Given the description of an element on the screen output the (x, y) to click on. 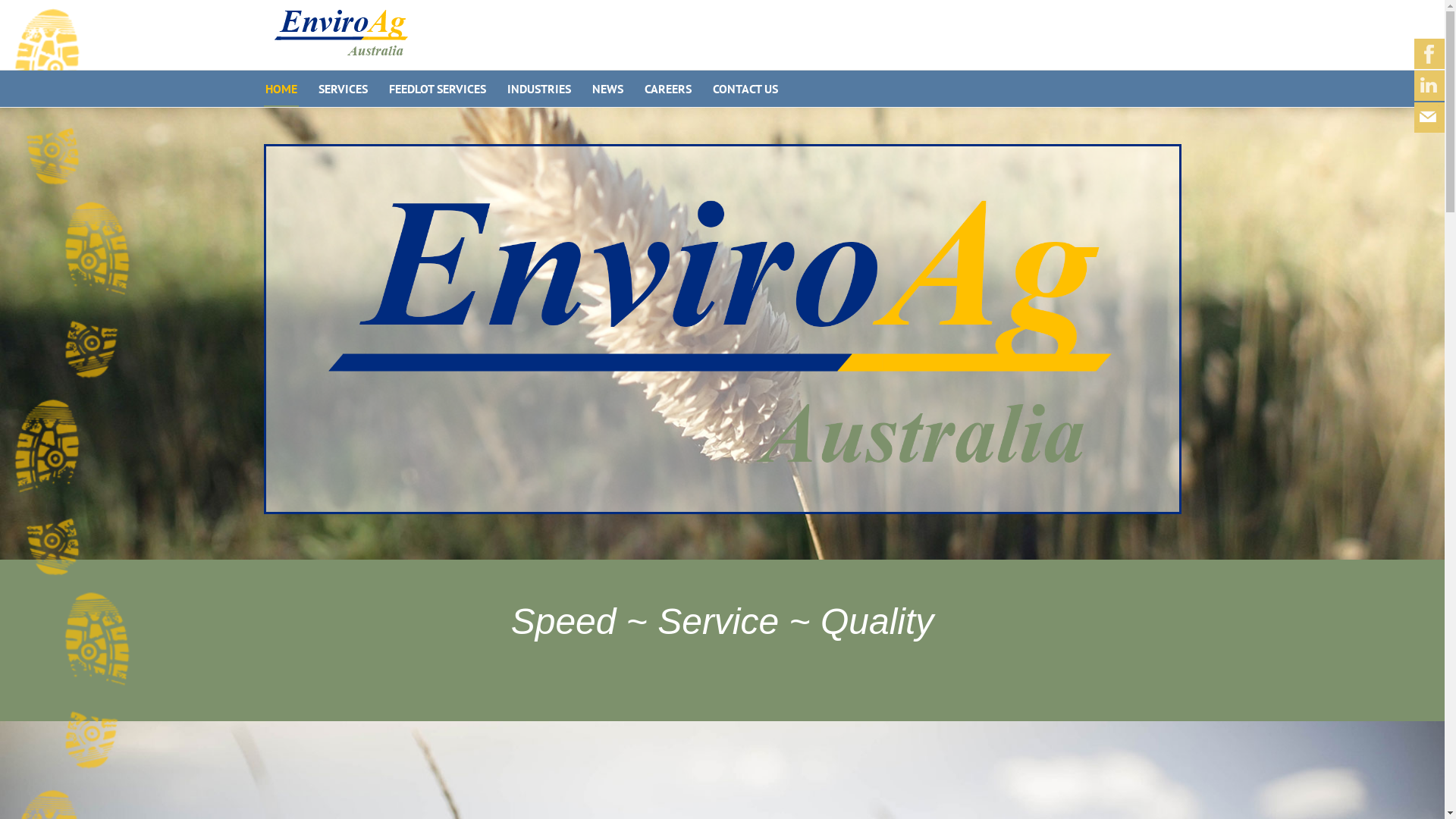
HOME Element type: text (280, 88)
CAREERS Element type: text (668, 88)
FEEDLOT SERVICES Element type: text (436, 88)
SERVICES Element type: text (342, 88)
CONTACT US Element type: text (745, 88)
NEWS Element type: text (606, 88)
INDUSTRIES Element type: text (538, 88)
